Given the description of an element on the screen output the (x, y) to click on. 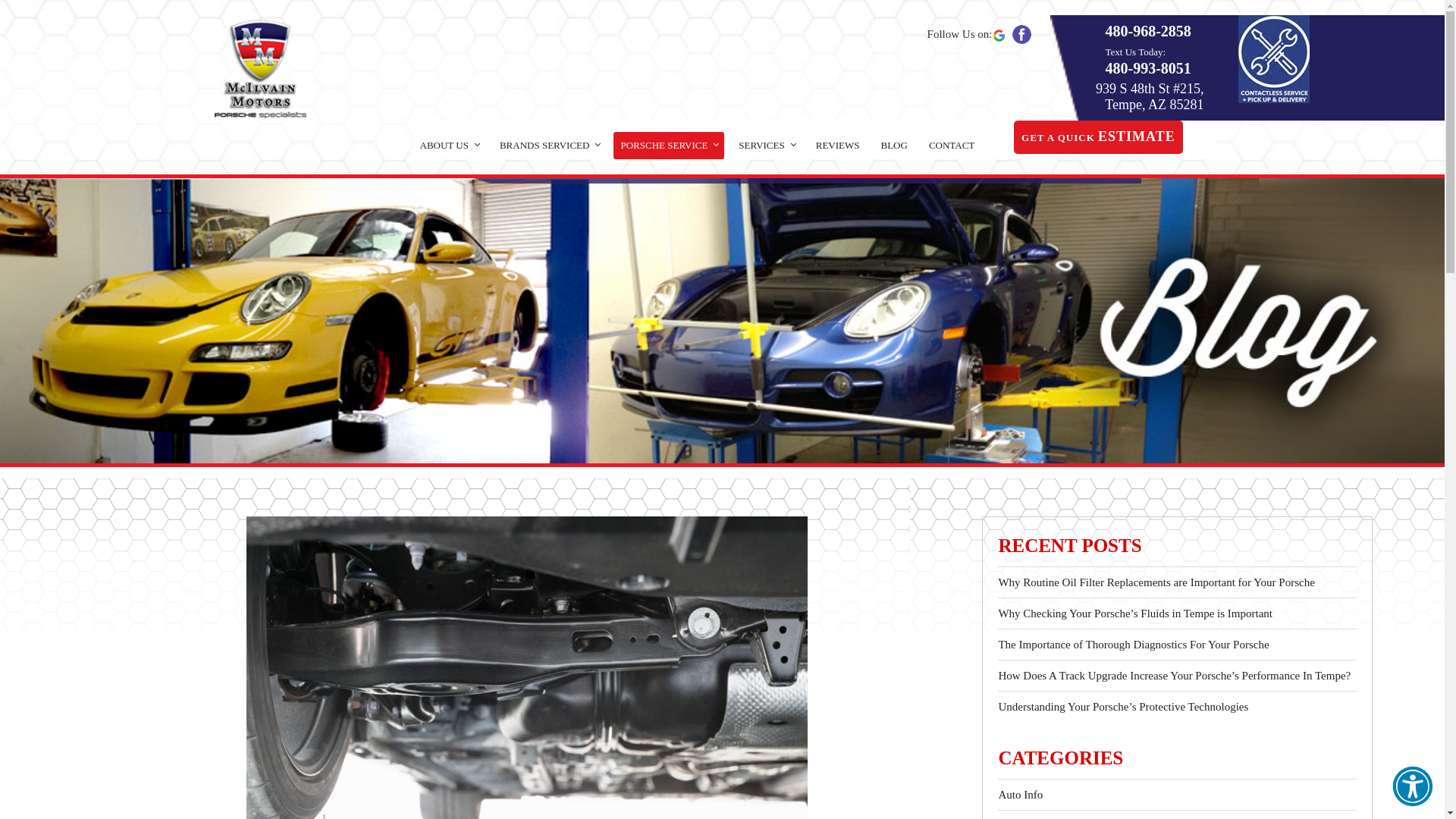
480-993-8051 (1160, 67)
ABOUT US (448, 144)
BRANDS SERVICED (549, 144)
PORSCHE SERVICE (668, 144)
SERVICES (765, 144)
480-968-2858 (1148, 31)
